Given the description of an element on the screen output the (x, y) to click on. 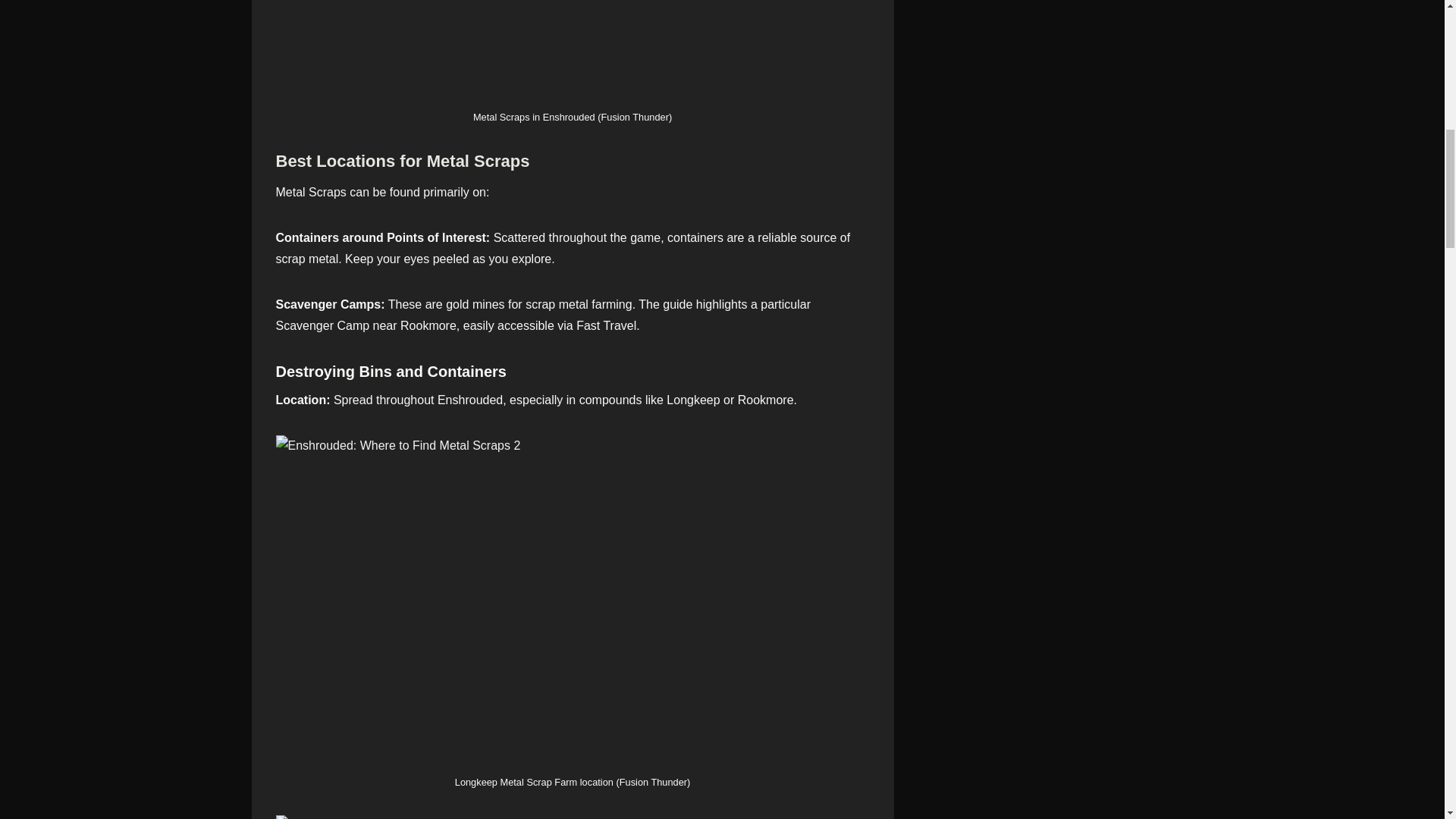
Enshrouded: Where to Find Metal Scraps 1 (572, 52)
